Given the description of an element on the screen output the (x, y) to click on. 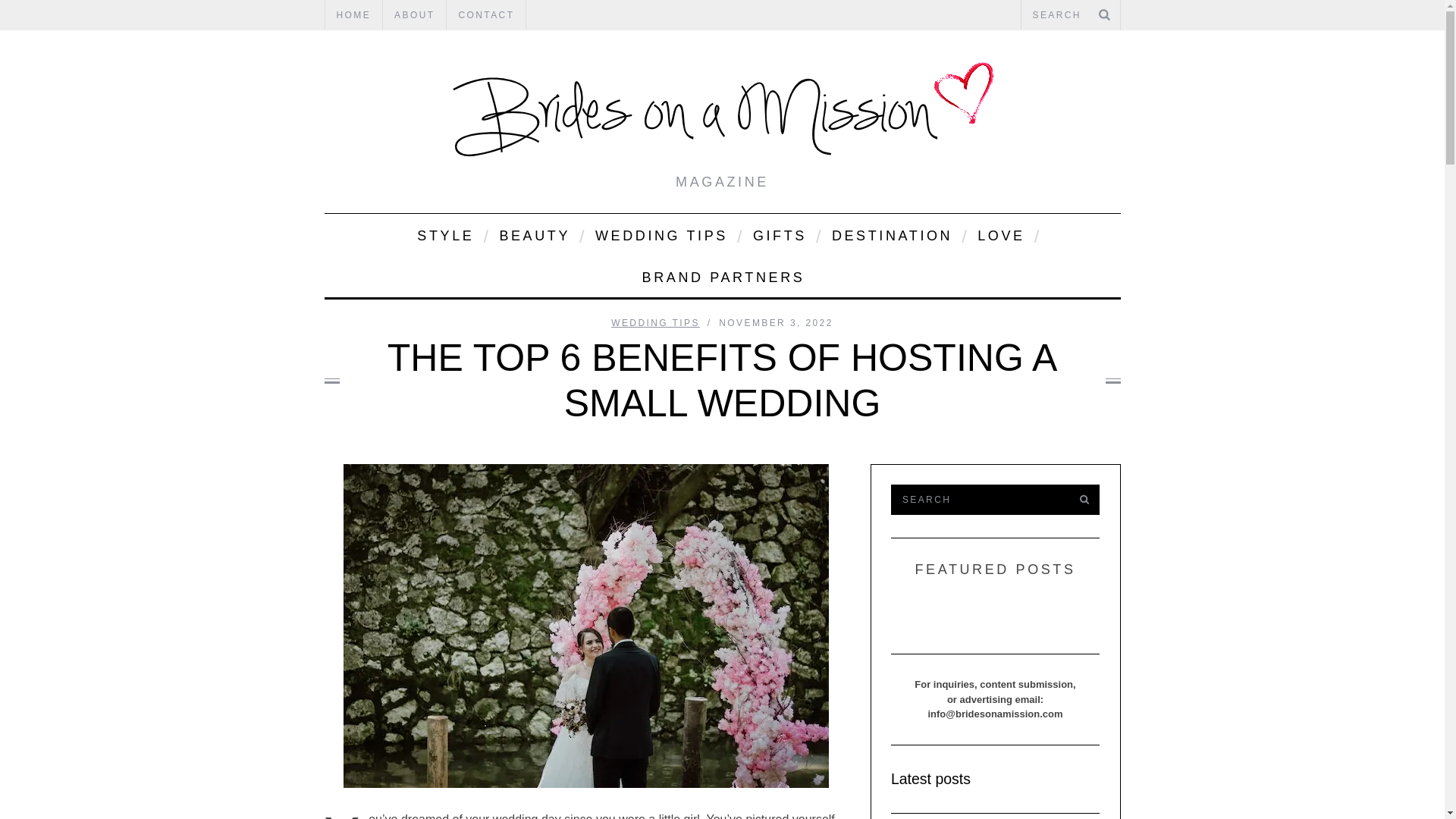
Brides on a Mission - Magazine (721, 113)
DESTINATION (890, 234)
ABOUT (413, 14)
Search (1070, 15)
GIFTS (778, 234)
CONTACT (485, 14)
BEAUTY (533, 234)
HOME (352, 14)
WEDDING TIPS (659, 234)
Search (976, 499)
